Given the description of an element on the screen output the (x, y) to click on. 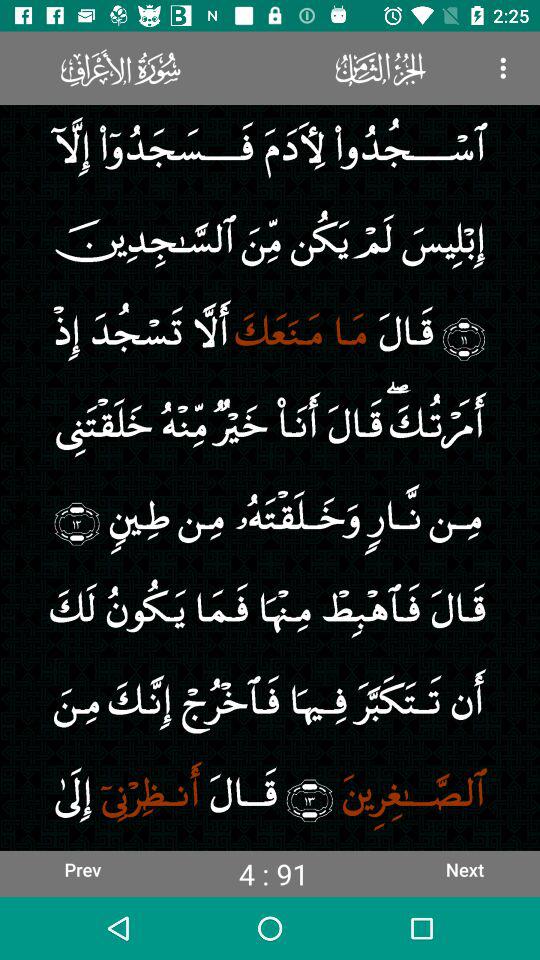
choose the icon at the top right corner (503, 68)
